Given the description of an element on the screen output the (x, y) to click on. 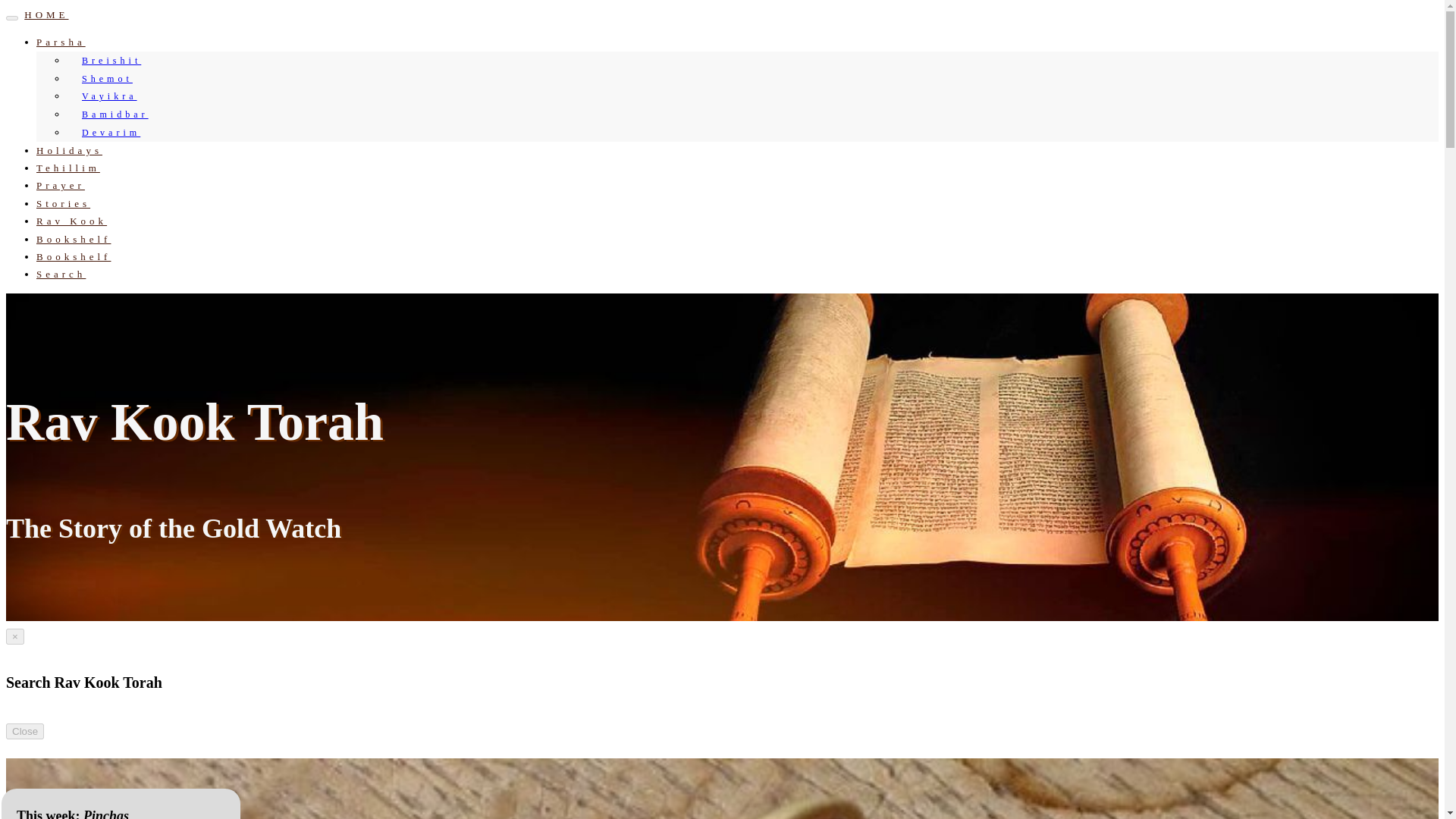
Stories (63, 203)
HOME (46, 14)
Breishit (107, 60)
Rav Kook (71, 220)
Tehillim (68, 167)
Search (60, 274)
Parsha (60, 41)
Bookshelf (73, 238)
Close (24, 731)
Devarim (107, 132)
Shemot (102, 78)
Bamidbar (110, 114)
Vayikra (105, 96)
Holidays (68, 150)
Prayer (60, 184)
